Given the description of an element on the screen output the (x, y) to click on. 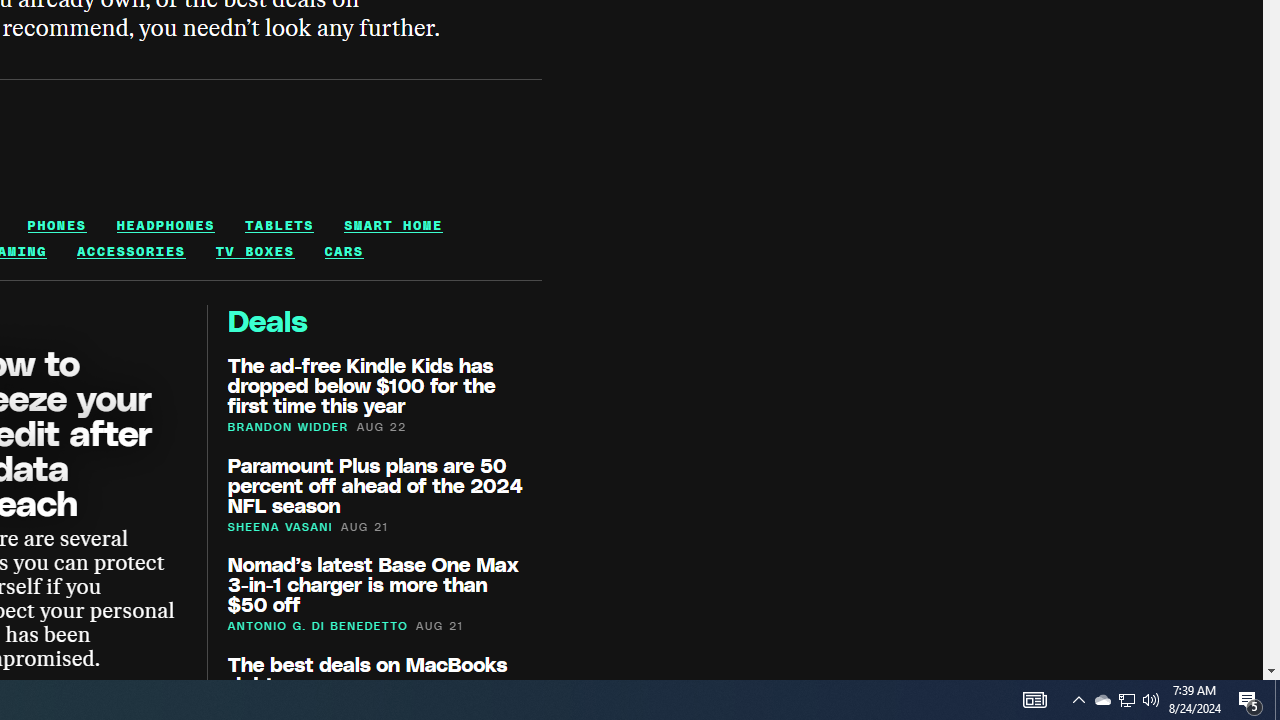
HEADPHONES (166, 225)
ANTONIO G. DI BENEDETTO (317, 625)
SHEENA VASANI (280, 525)
PHONES (56, 225)
BRANDON WIDDER (287, 426)
SMART HOME (393, 225)
TABLETS (279, 225)
Deals (267, 320)
TV BOXES (254, 251)
ACCESSORIES (130, 251)
The best deals on MacBooks right now (367, 673)
